Given the description of an element on the screen output the (x, y) to click on. 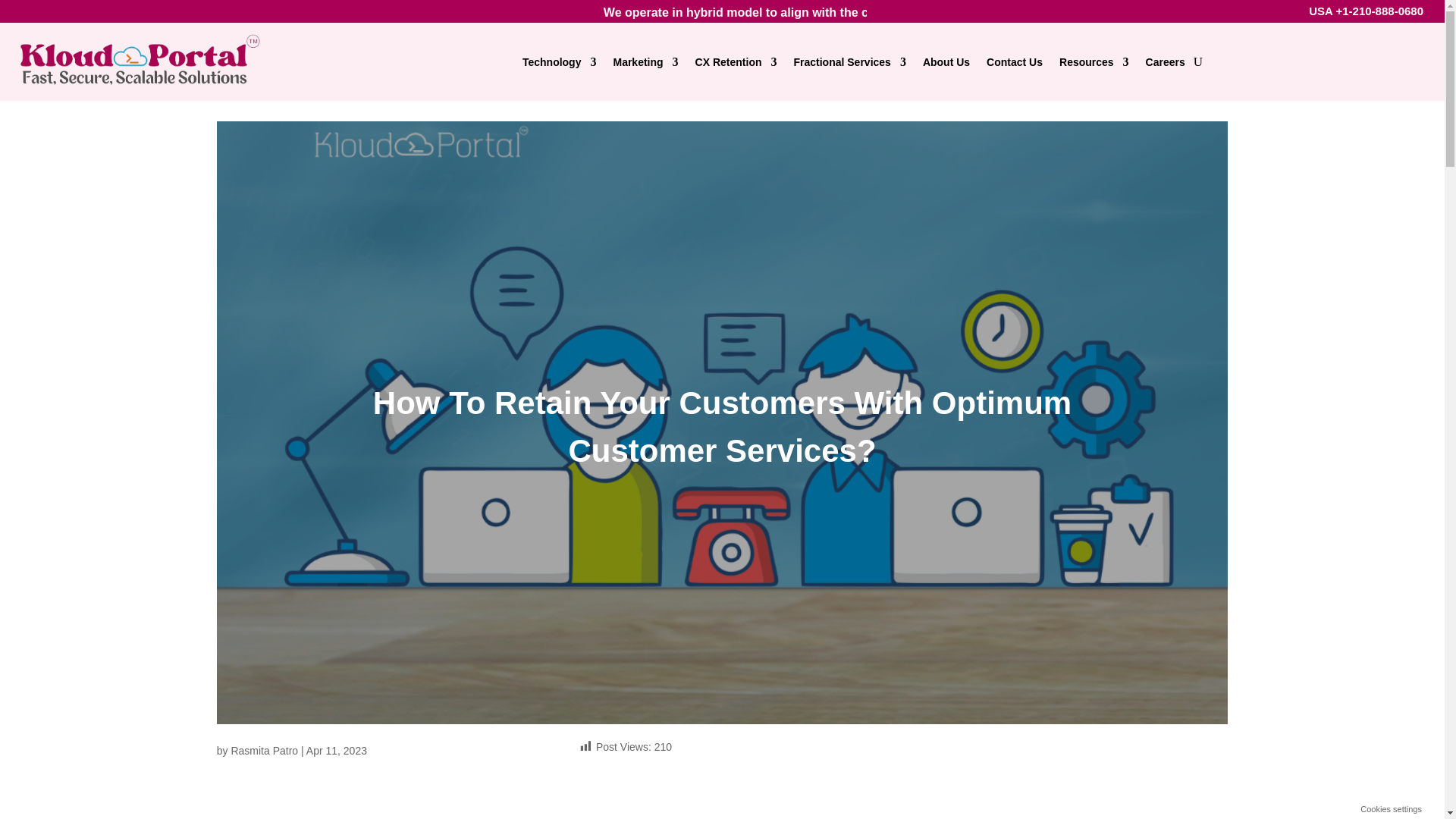
Resources (1094, 61)
Fractional Services (849, 61)
Technology (559, 61)
CX Retention (736, 61)
Rasmita Patro (264, 750)
Posts by Rasmita Patro (264, 750)
